Given the description of an element on the screen output the (x, y) to click on. 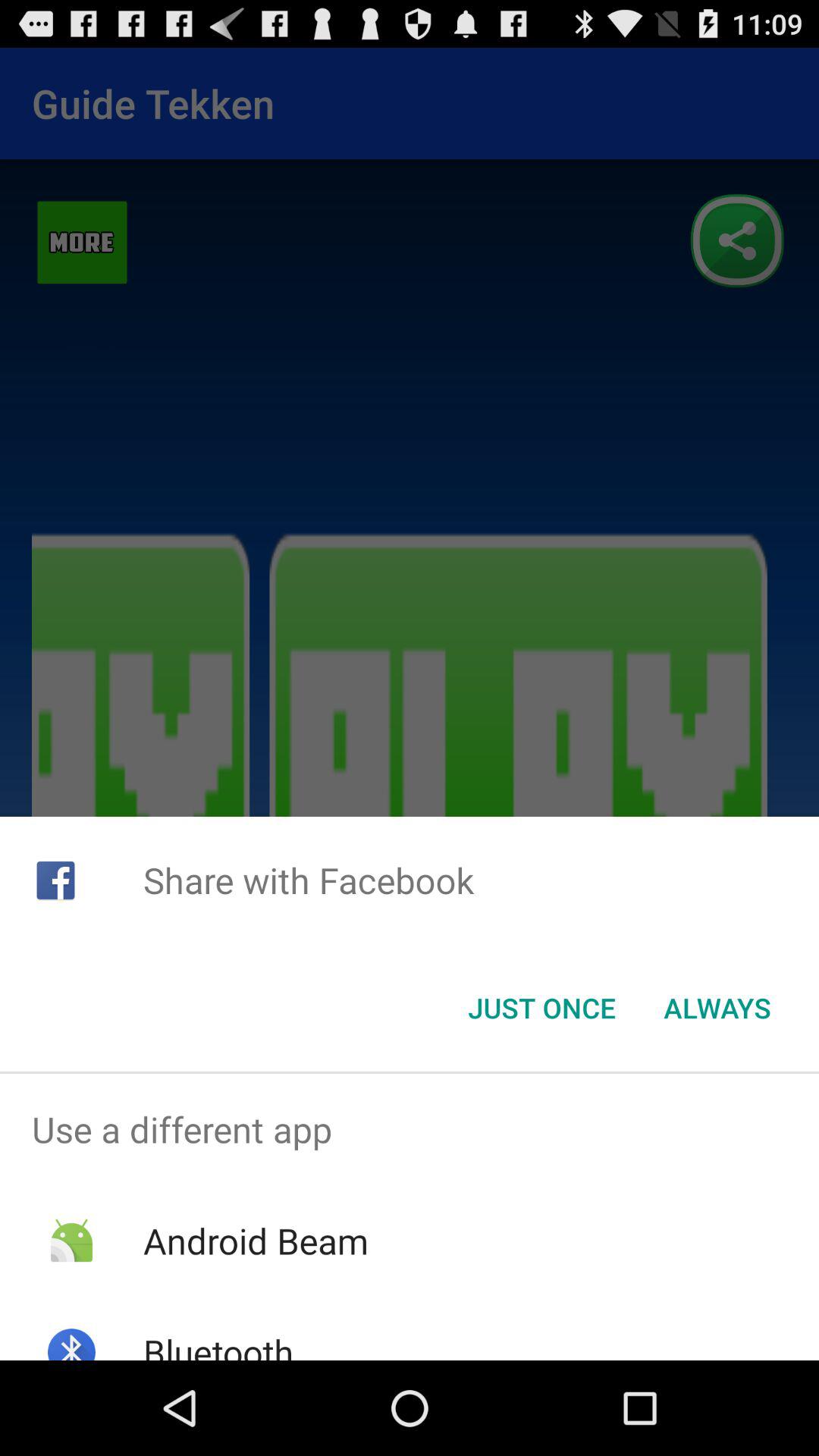
open item next to always (541, 1007)
